Given the description of an element on the screen output the (x, y) to click on. 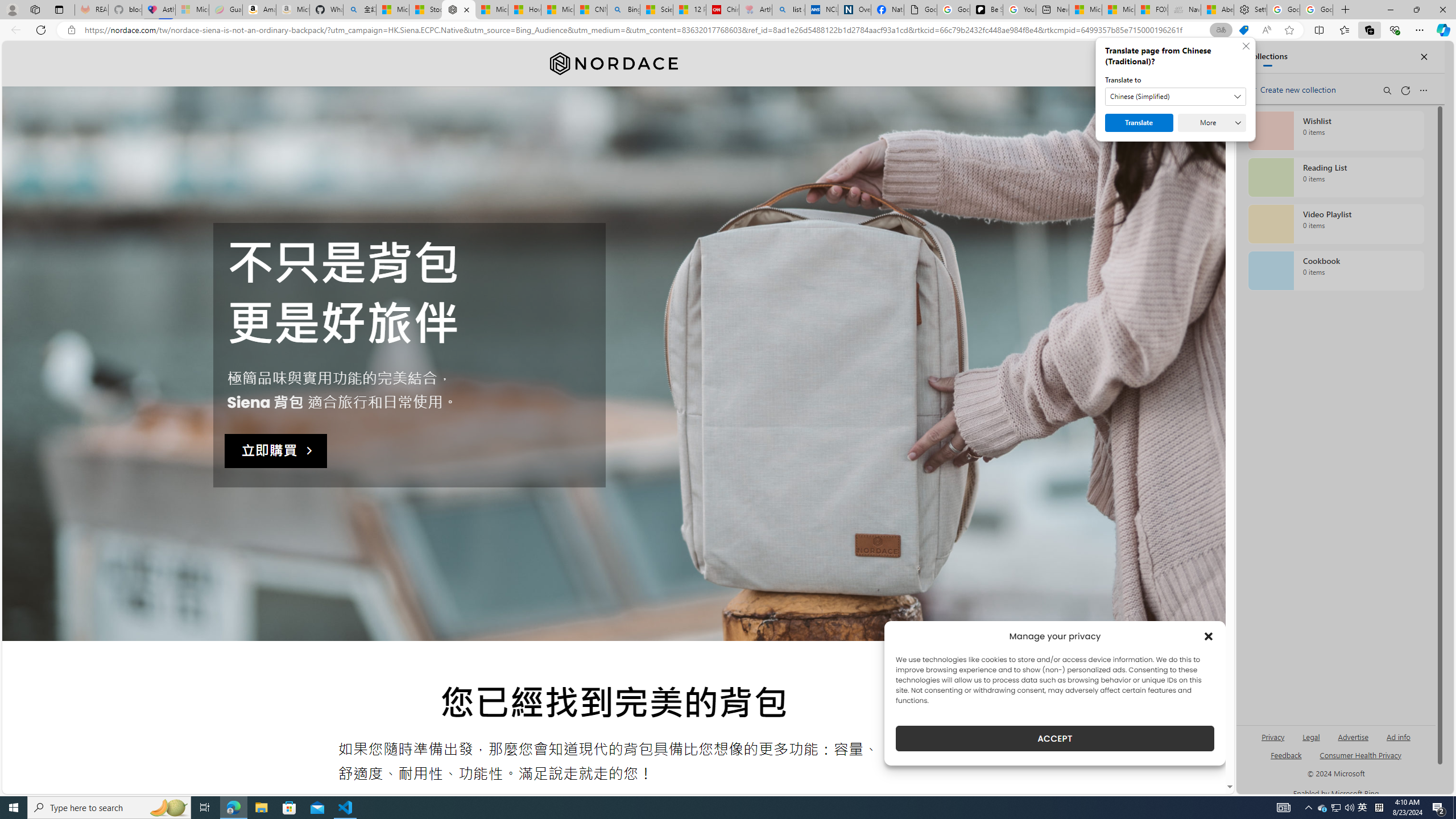
Translate (1139, 122)
Arthritis: Ask Health Professionals - Sleeping (755, 9)
More (1211, 122)
